Given the description of an element on the screen output the (x, y) to click on. 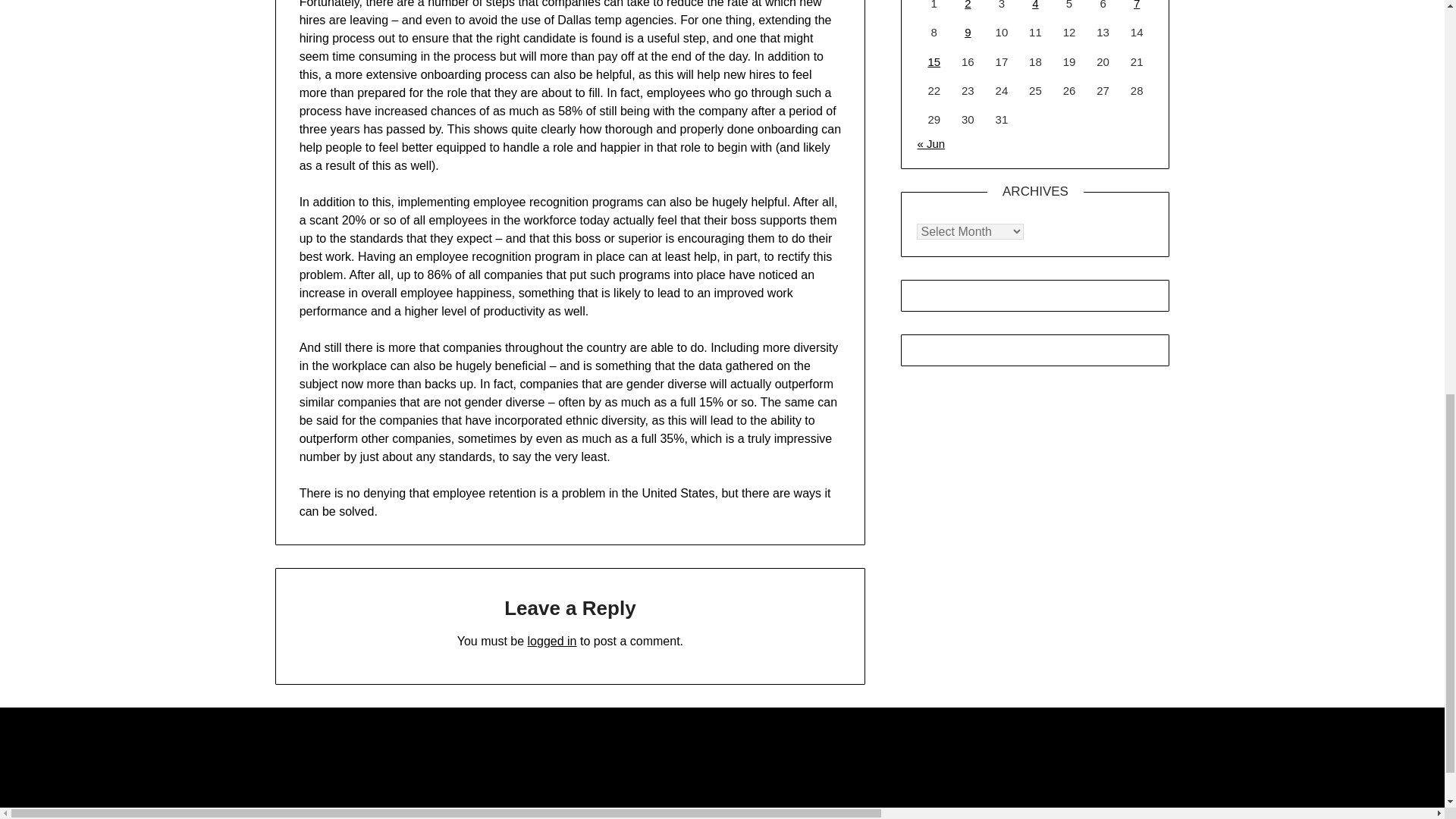
15 (933, 61)
logged in (551, 640)
